Given the description of an element on the screen output the (x, y) to click on. 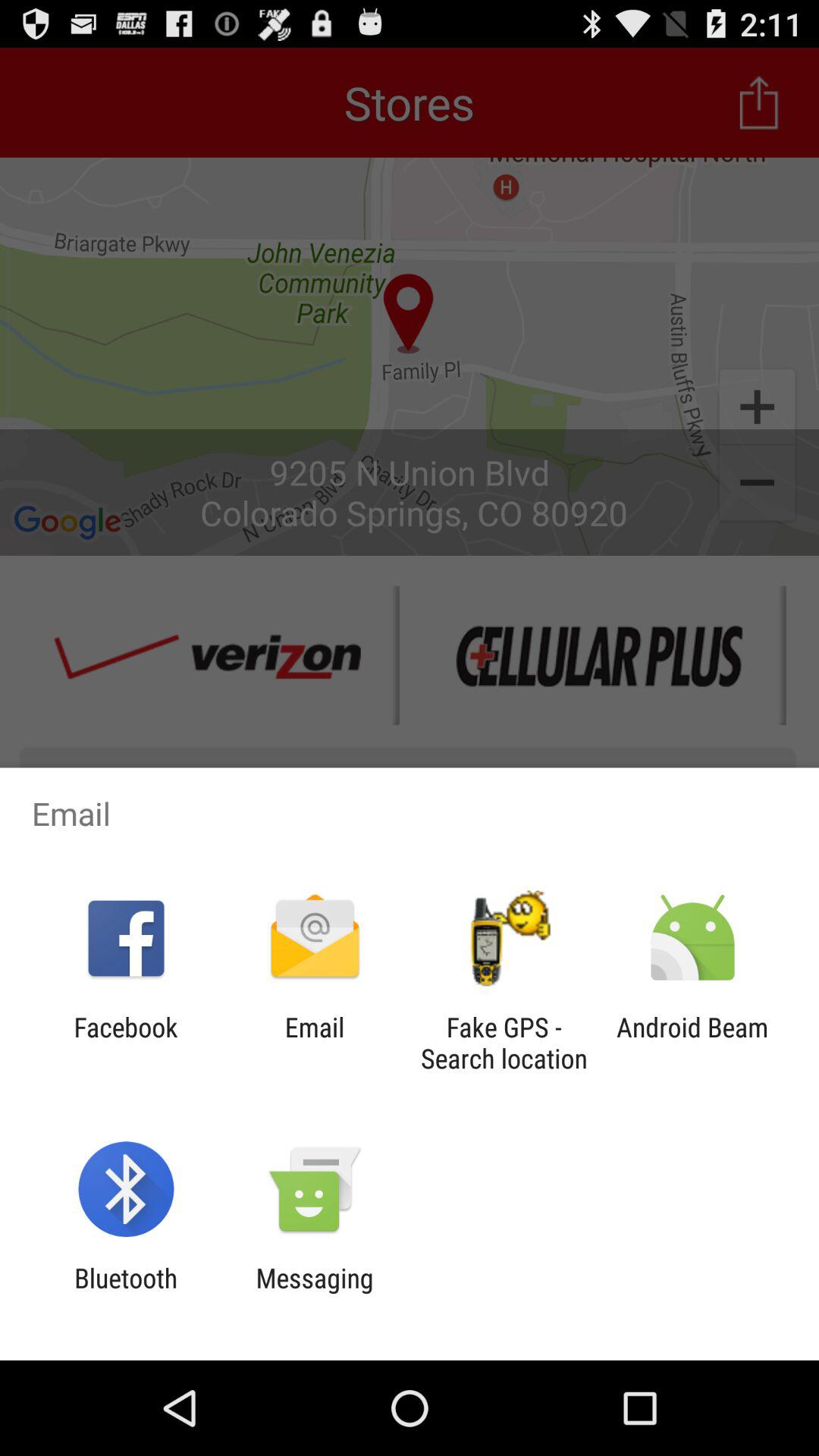
select icon at the bottom right corner (692, 1042)
